Given the description of an element on the screen output the (x, y) to click on. 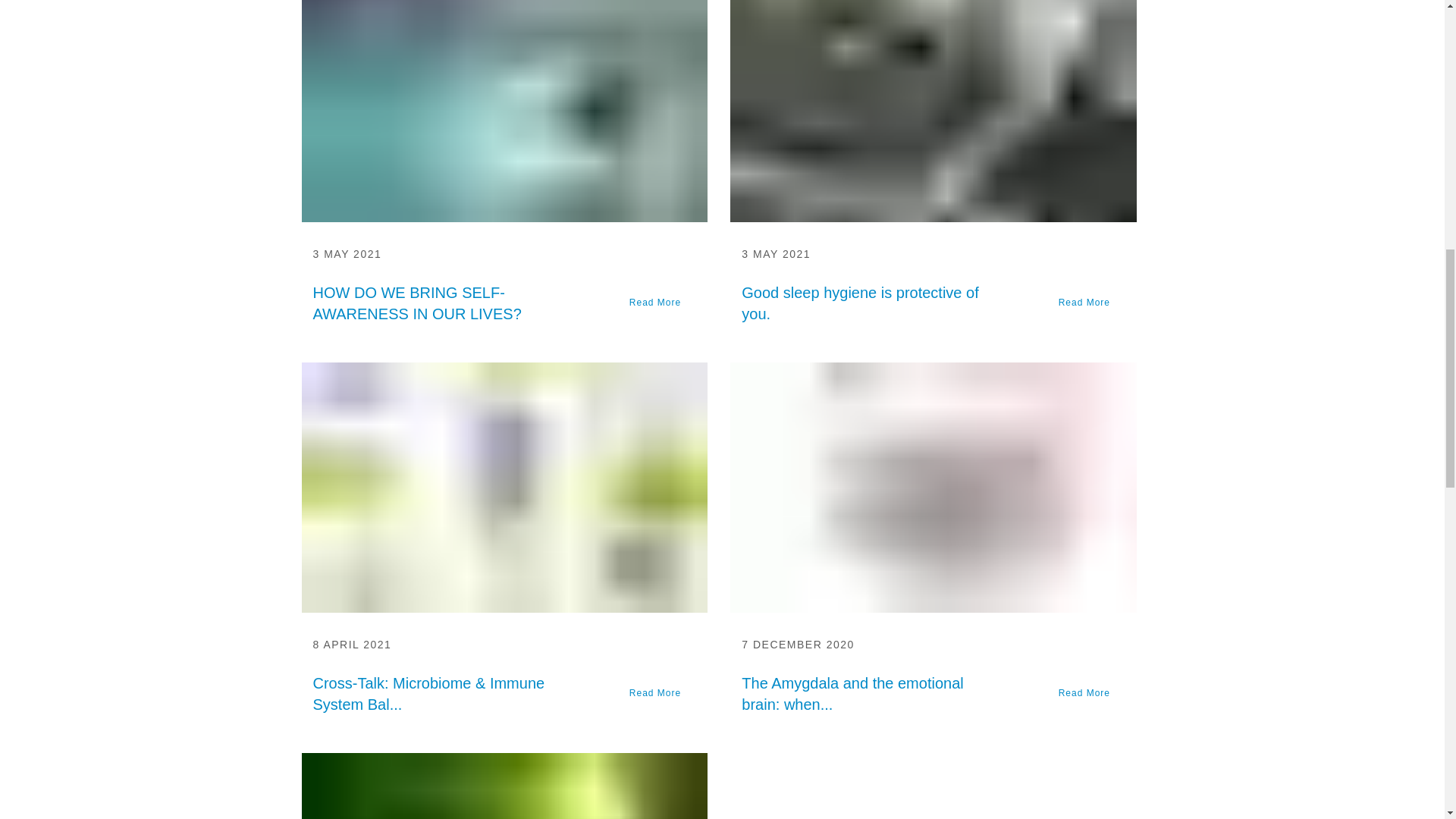
Read More (660, 693)
Read More (660, 302)
Read More (1089, 302)
Read More (660, 693)
HOW DO WE BRING SELF-AWARENESS IN OUR LIVES? (440, 302)
The Amygdala and the emotional brain: when... (869, 693)
Good sleep hygiene is protective of you. (869, 302)
Read More (660, 302)
HOW DO WE BRING SELF-AWARENESS IN OUR LIVES? (504, 110)
Good sleep hygiene is protective of you. (933, 110)
Read More (1089, 302)
HOW DO WE BRING SELF-AWARENESS IN OUR LIVES? (440, 302)
Good sleep hygiene is protective of you. (869, 302)
